Given the description of an element on the screen output the (x, y) to click on. 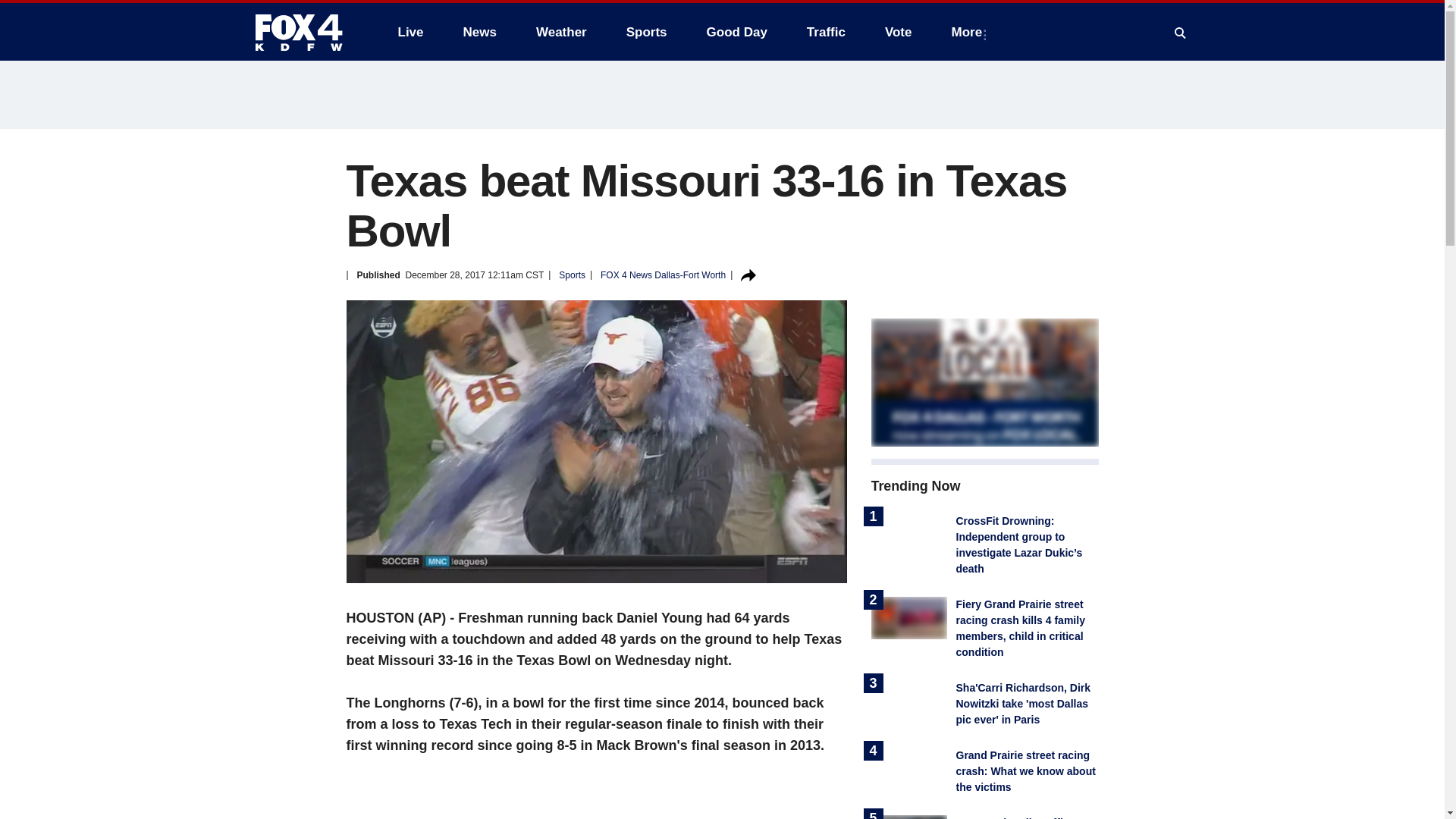
Live (410, 32)
Good Day (736, 32)
More (969, 32)
Sports (646, 32)
Weather (561, 32)
Traffic (825, 32)
Vote (898, 32)
News (479, 32)
